Given the description of an element on the screen output the (x, y) to click on. 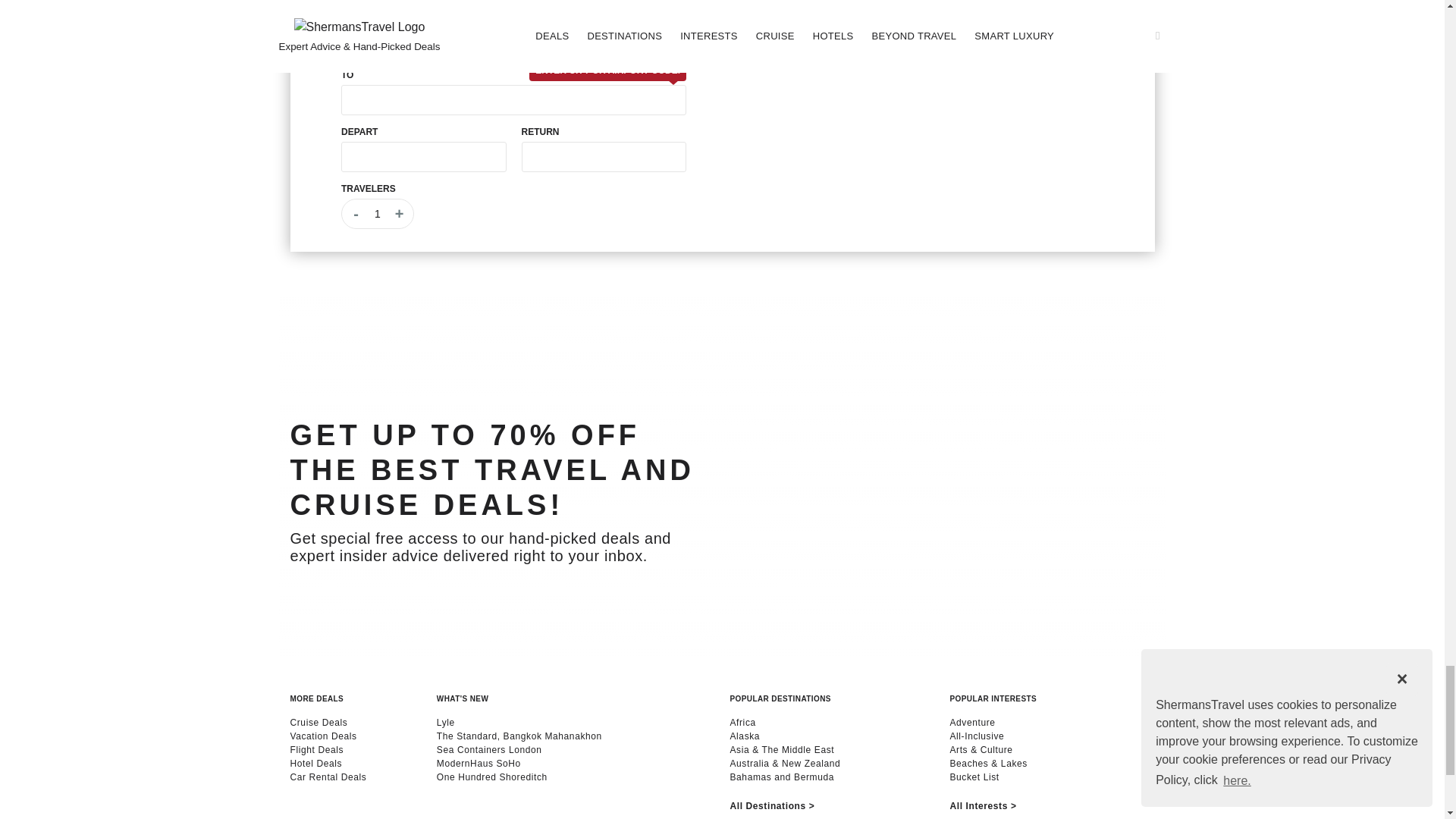
2 (638, 2)
1 (576, 2)
